Given the description of an element on the screen output the (x, y) to click on. 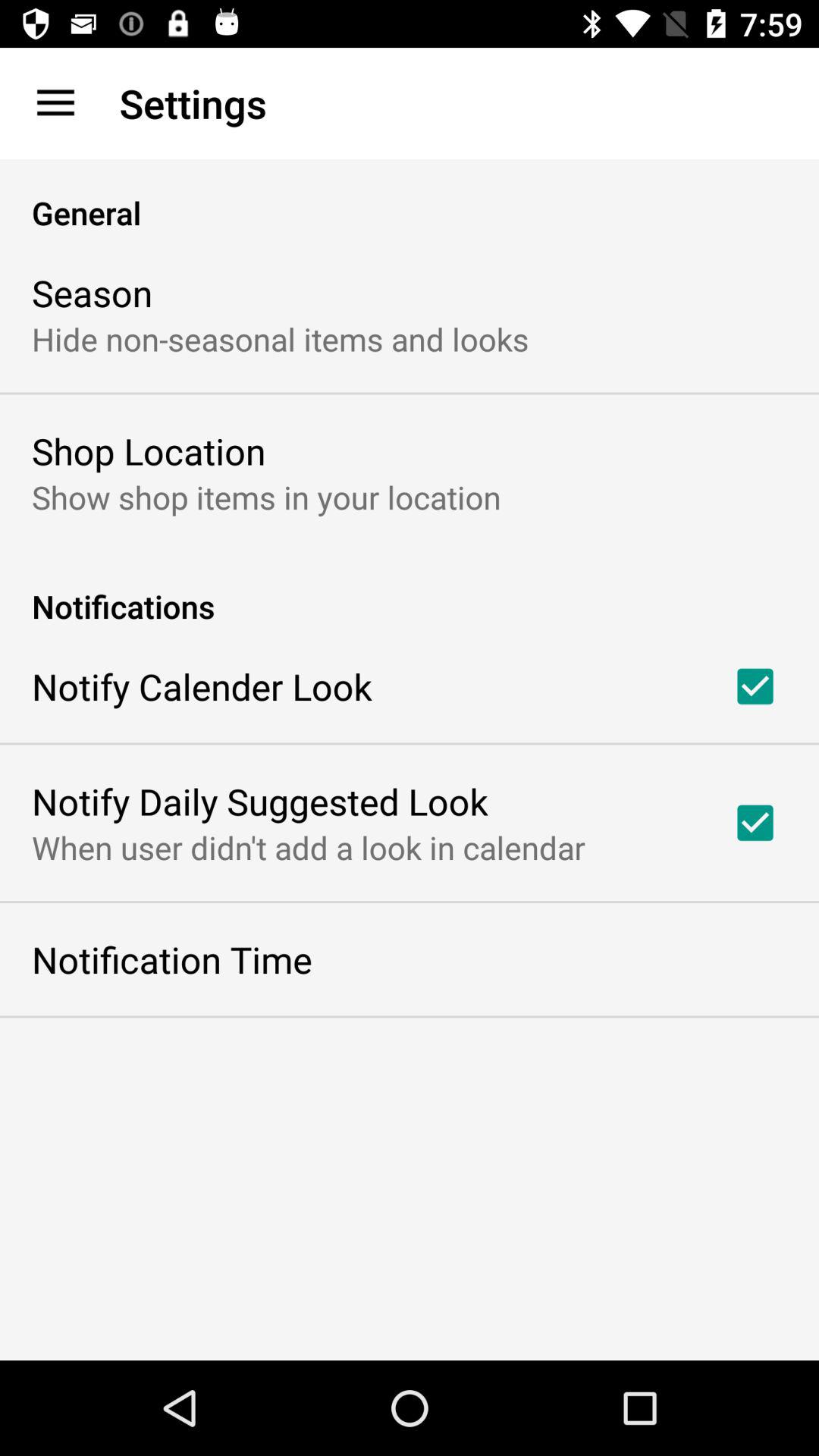
select item below season (279, 338)
